Given the description of an element on the screen output the (x, y) to click on. 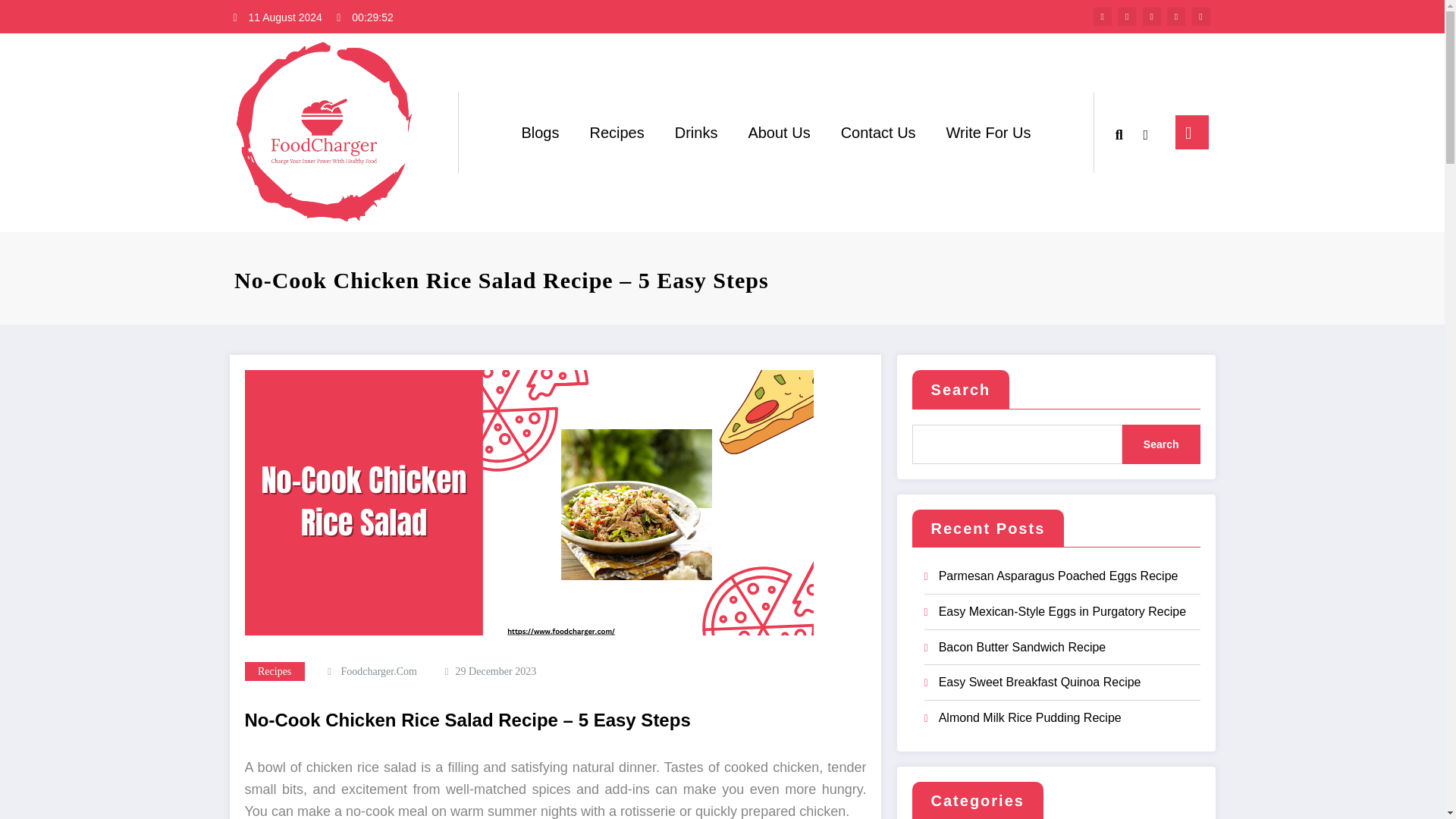
Blogs (539, 132)
Recipes (616, 132)
Contact Us (878, 132)
Toggle Icon (1191, 132)
Drinks (696, 132)
Recipes (274, 670)
Recipes (274, 670)
29 December 2023 (496, 671)
Posts by foodcharger.com (378, 671)
date-time (496, 671)
